Given the description of an element on the screen output the (x, y) to click on. 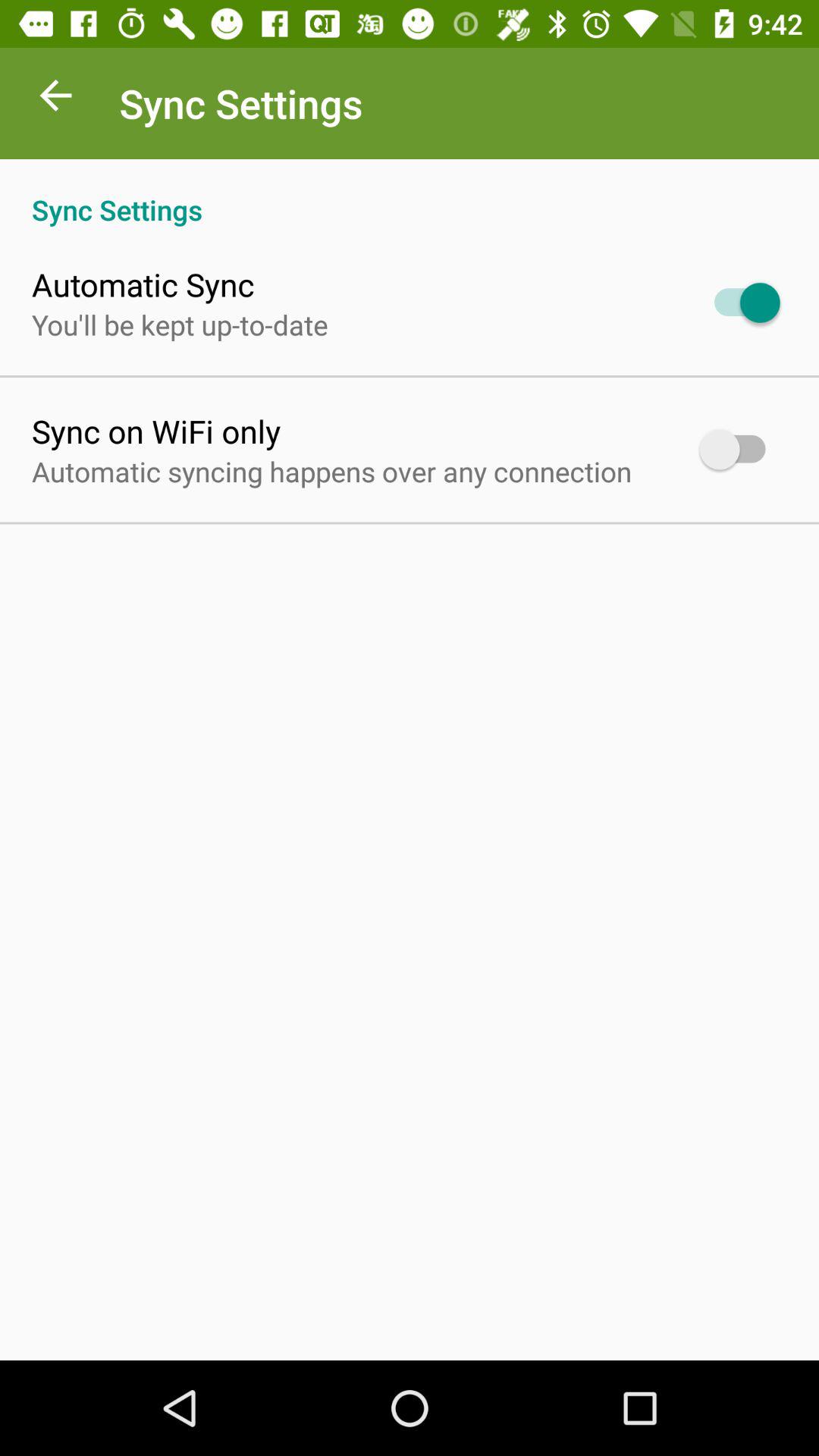
jump until the sync on wifi (155, 430)
